Given the description of an element on the screen output the (x, y) to click on. 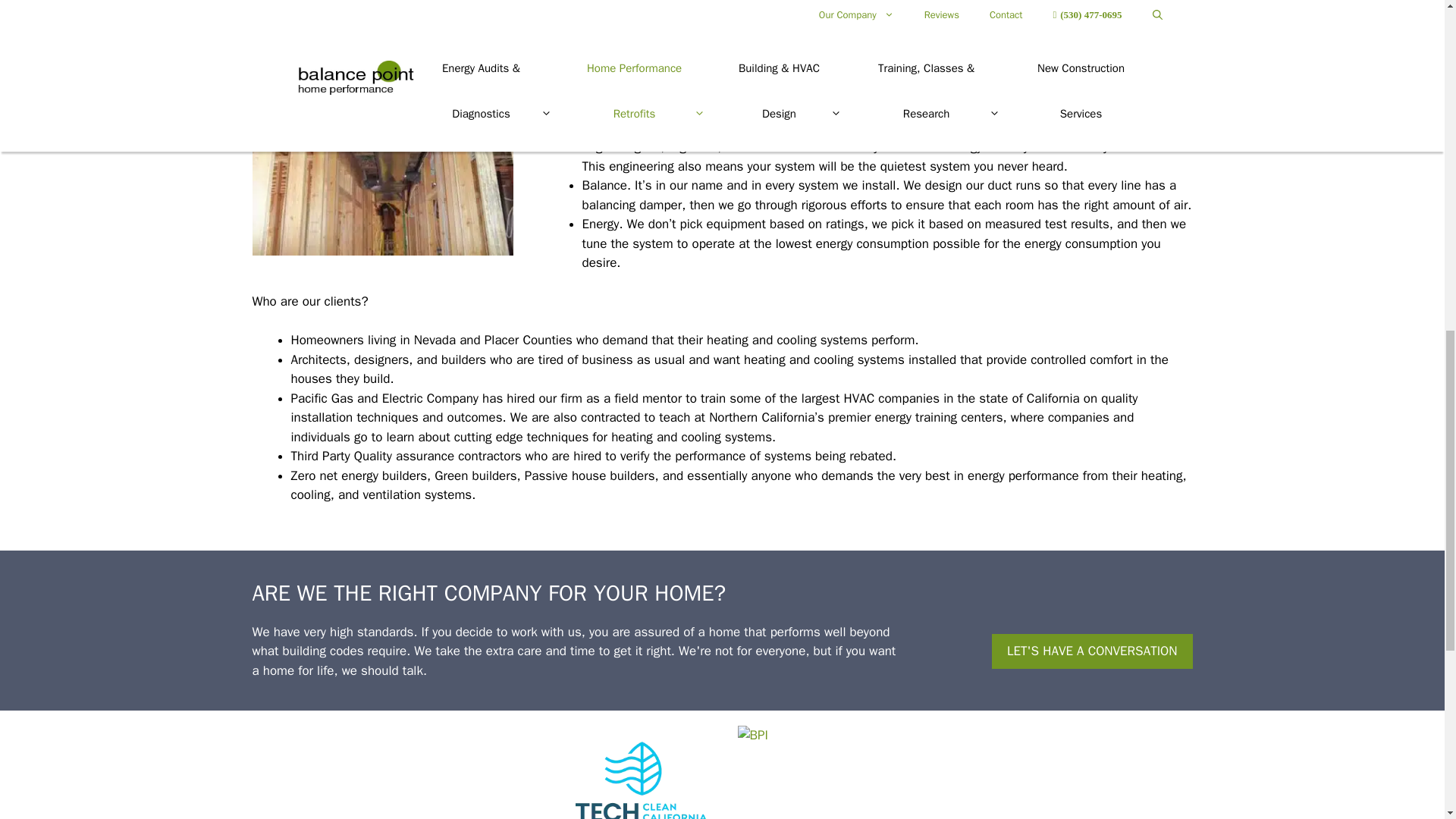
Scroll back to top (1406, 720)
